Given the description of an element on the screen output the (x, y) to click on. 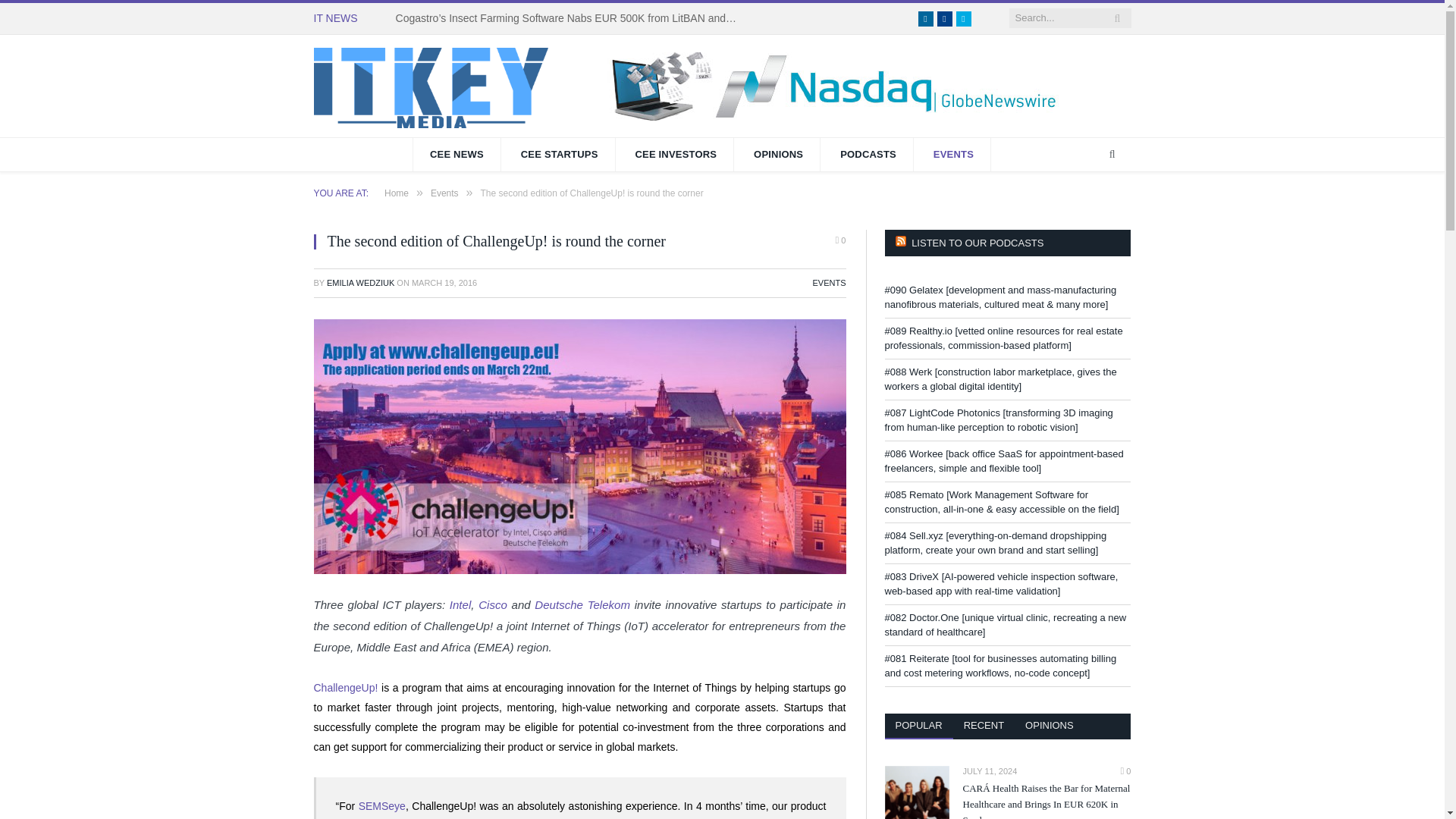
PODCASTS (869, 154)
EMILIA WEDZIUK (360, 282)
EVENTS (828, 282)
Events (444, 193)
Posts by Emilia Wedziuk (360, 282)
CEE STARTUPS (559, 154)
LinkedIn (925, 18)
CEE INVESTORS (675, 154)
EVENTS (954, 154)
